Given the description of an element on the screen output the (x, y) to click on. 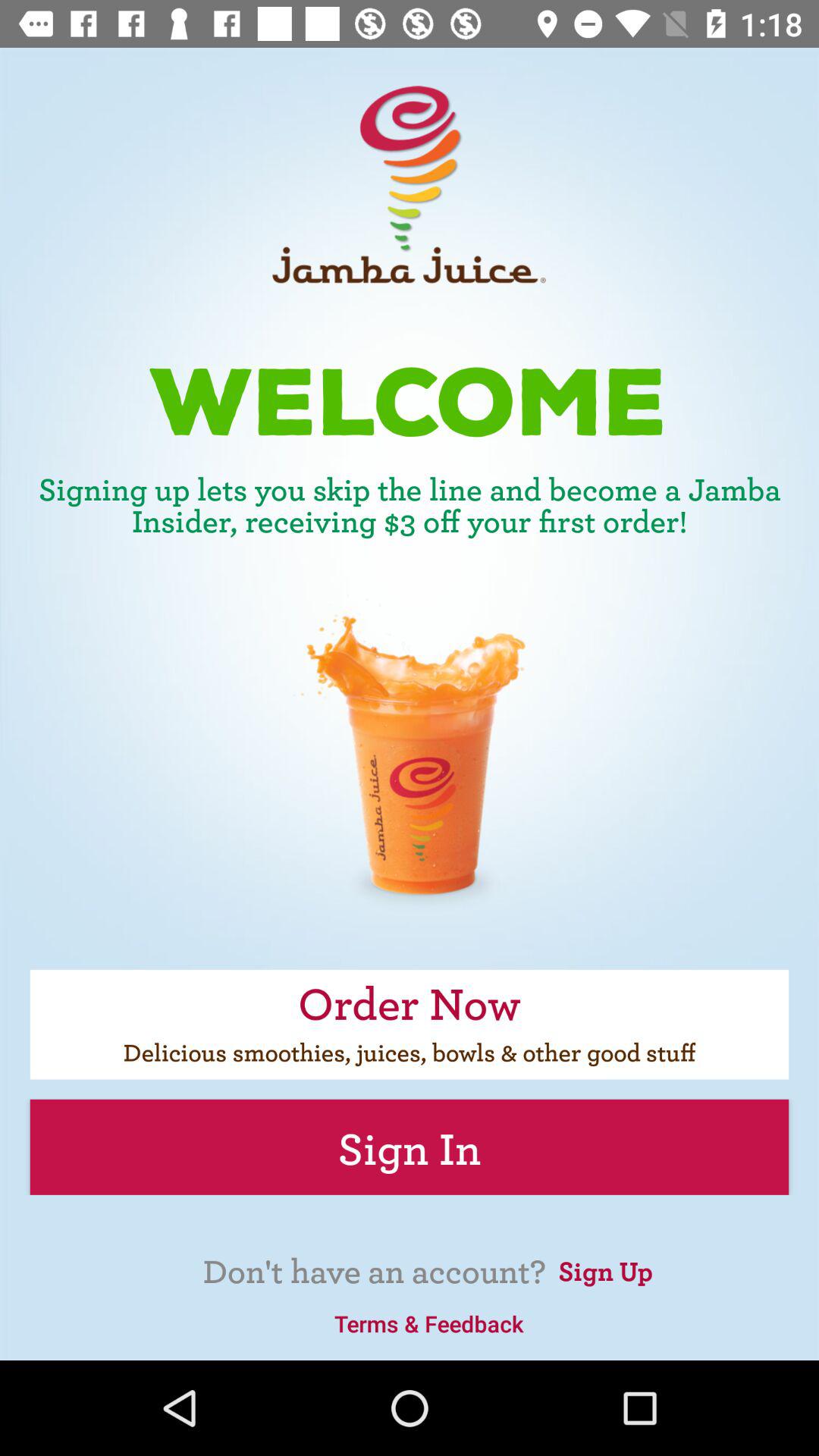
select the item to the left of the sign up icon (428, 1323)
